Given the description of an element on the screen output the (x, y) to click on. 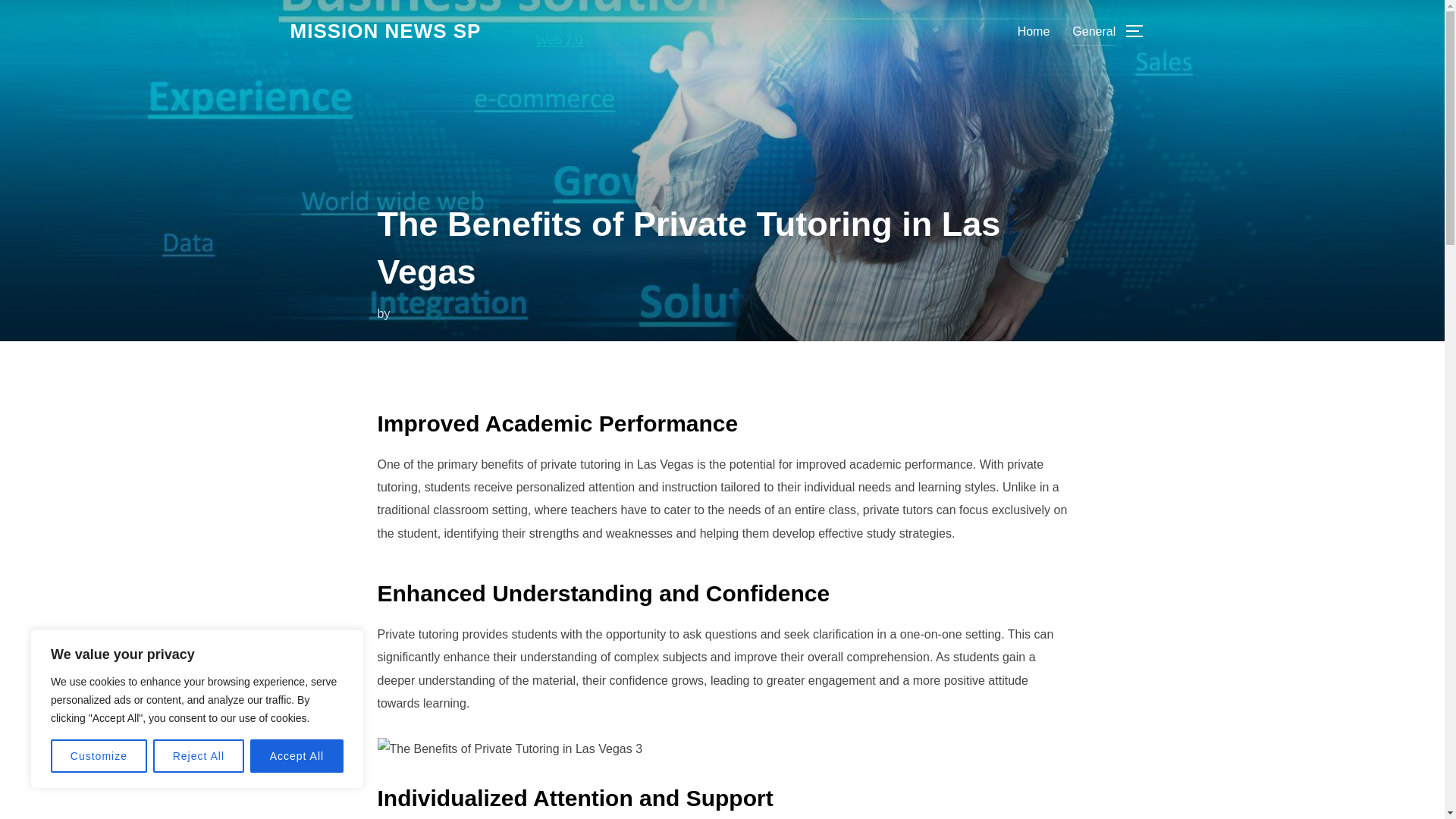
Customize (98, 756)
General (1093, 30)
Home (1033, 30)
Blog (384, 31)
MISSION NEWS SP (384, 31)
Reject All (198, 756)
Accept All (296, 756)
